Given the description of an element on the screen output the (x, y) to click on. 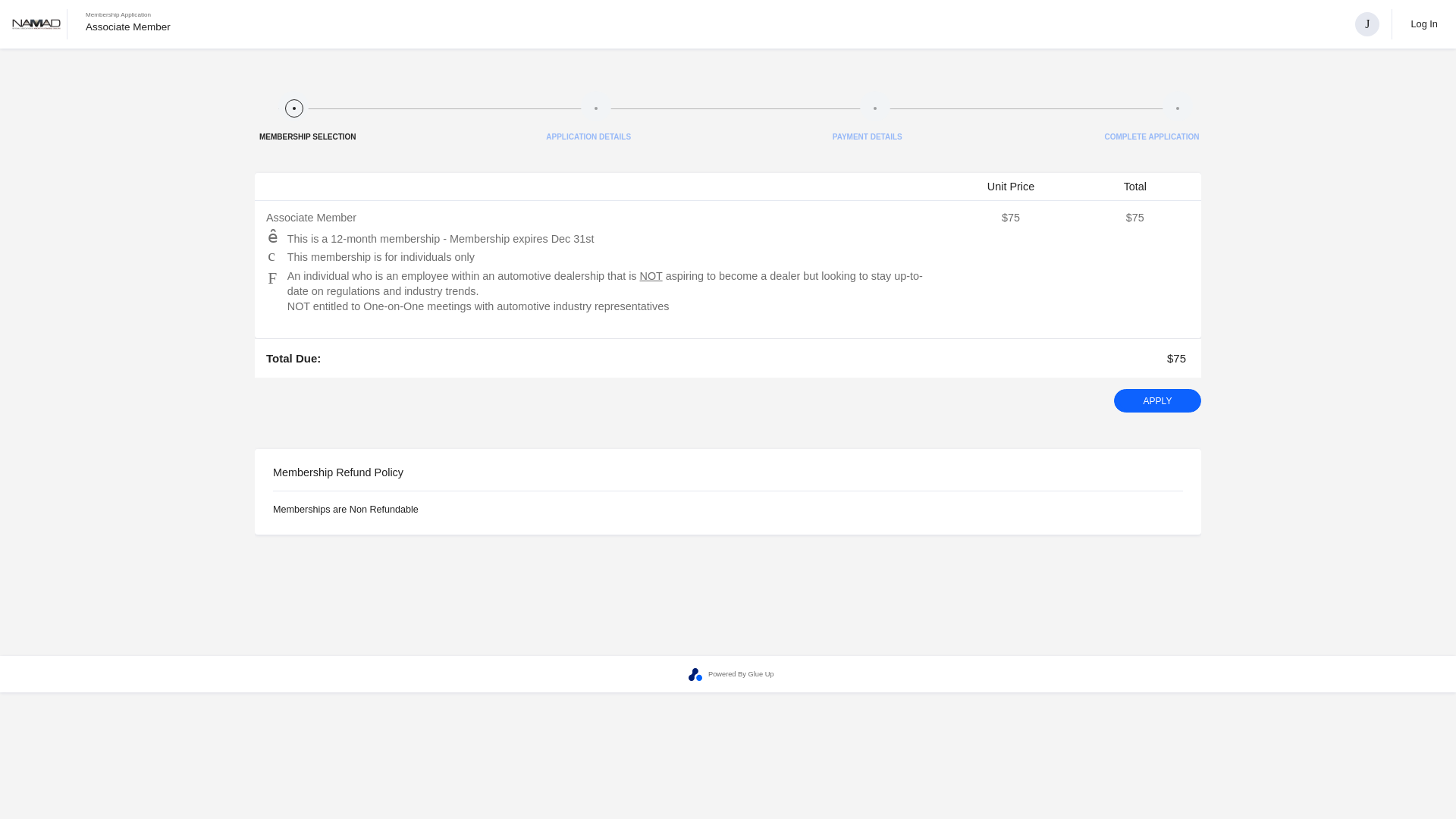
APPLY (1157, 400)
Associate Member (127, 26)
